Given the description of an element on the screen output the (x, y) to click on. 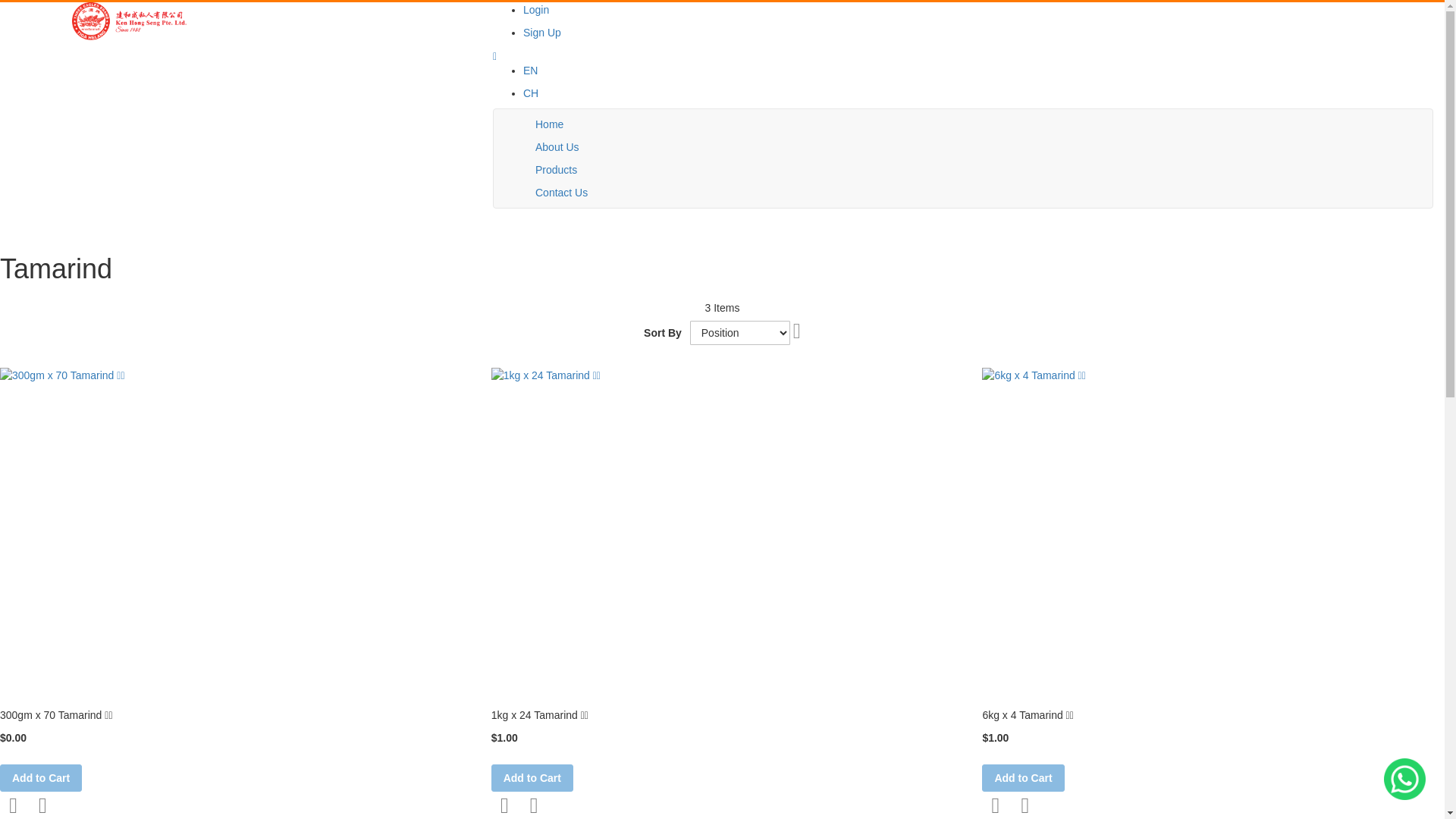
Sign Up Element type: text (542, 32)
Add to Wish List Element type: text (504, 804)
Products Element type: text (556, 169)
Add to Cart Element type: text (40, 777)
Add to Compare Element type: text (533, 804)
Contact Us Element type: text (561, 192)
Add to Compare Element type: text (42, 804)
Add to Wish List Element type: text (13, 804)
EN Element type: text (530, 70)
Login Element type: text (536, 9)
Home Element type: text (549, 124)
Add to Compare Element type: text (1024, 804)
Set Descending Direction Element type: text (796, 331)
About Us Element type: text (557, 147)
Add to Wish List Element type: text (995, 804)
Add to Cart Element type: text (1022, 777)
CH Element type: text (530, 93)
Add to Cart Element type: text (532, 777)
